Given the description of an element on the screen output the (x, y) to click on. 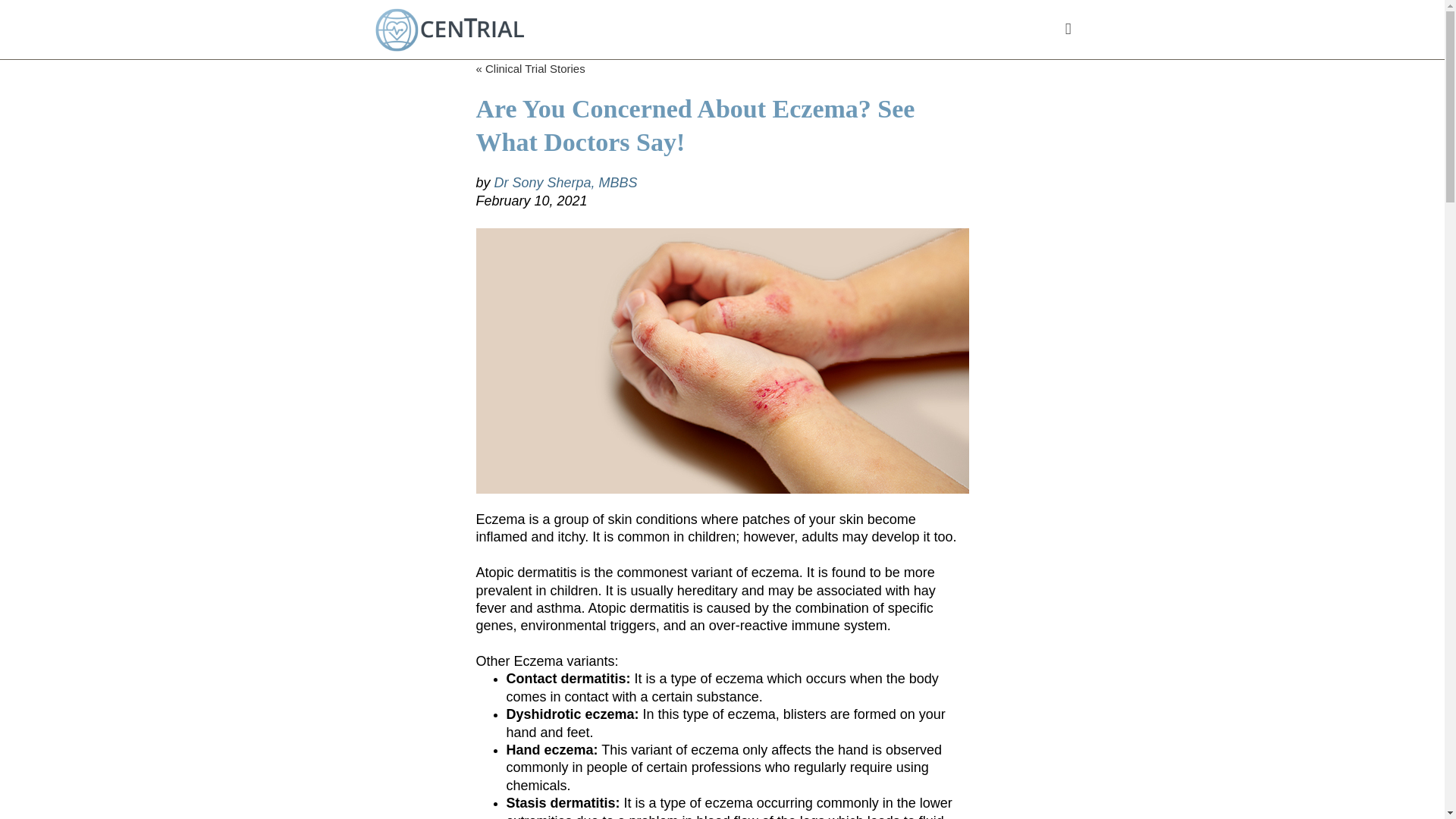
Dr Sony Sherpa, MBBS (566, 182)
